Given the description of an element on the screen output the (x, y) to click on. 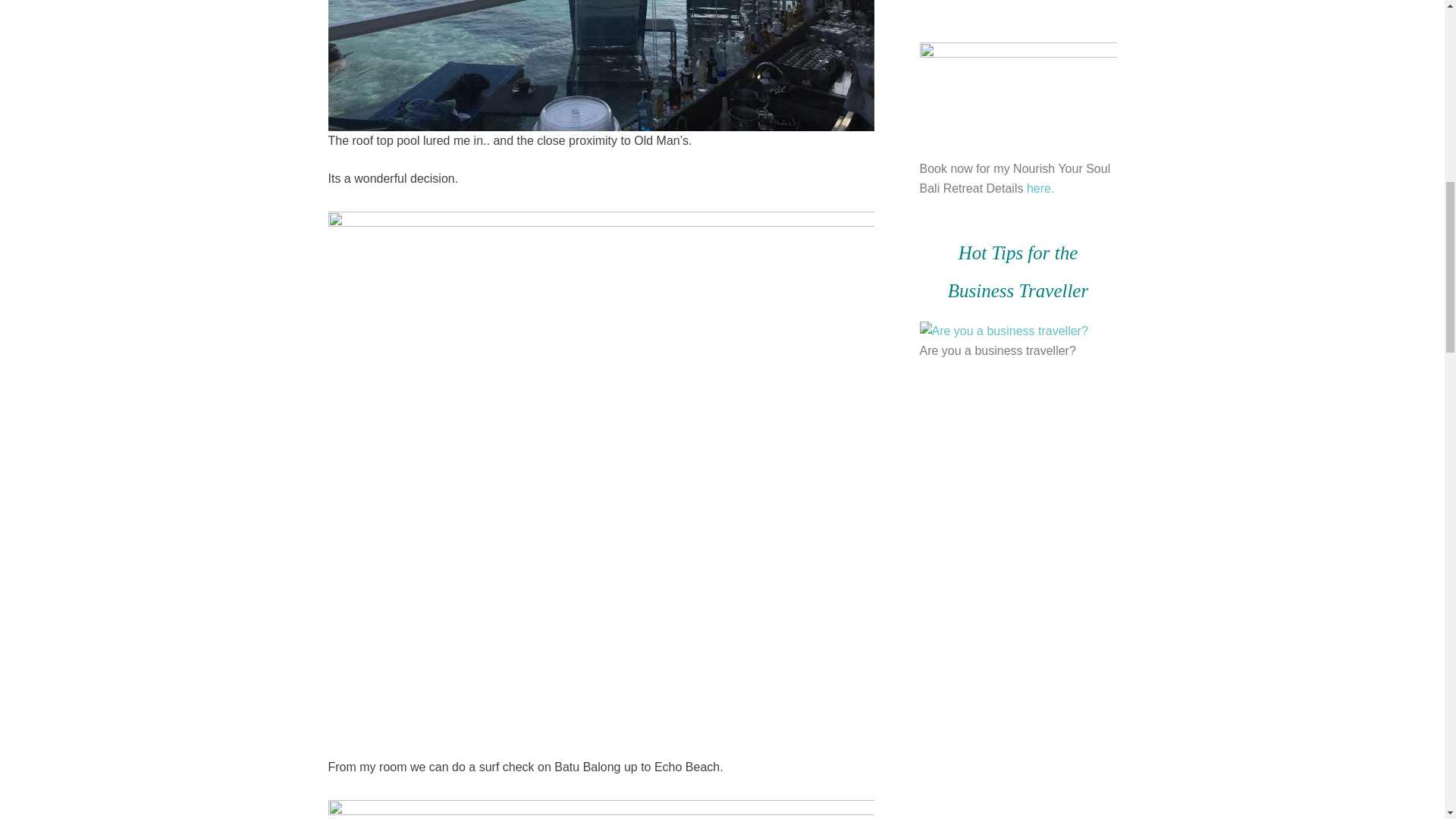
here. (1040, 187)
Click on (1002, 331)
Discover more (1012, 1)
